Given the description of an element on the screen output the (x, y) to click on. 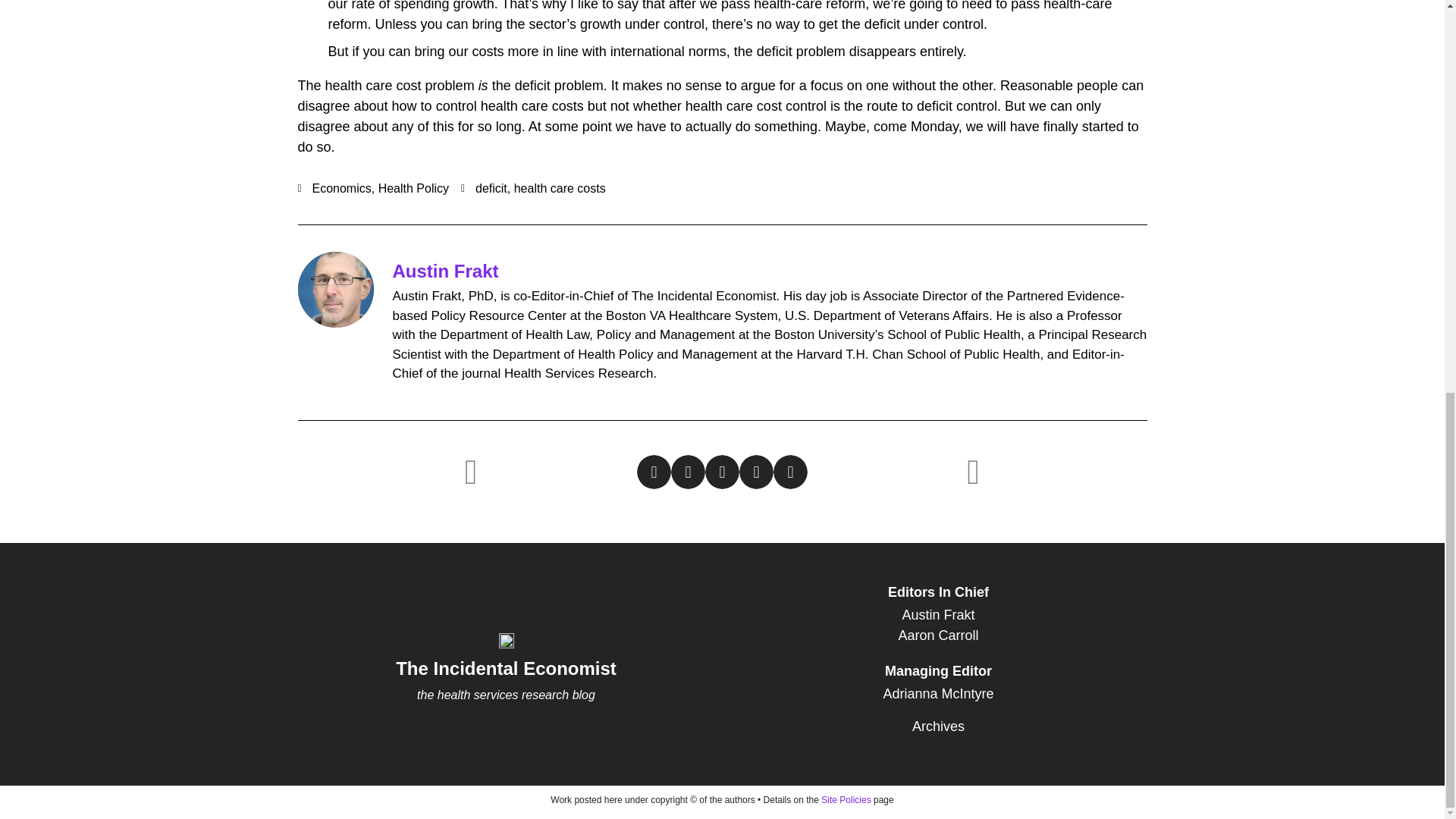
health care costs (559, 187)
Economics (342, 187)
Austin Frakt (938, 615)
Site Policies (845, 799)
Archives (938, 726)
Adrianna McIntyre (938, 693)
Health Policy (413, 187)
Aaron Carroll (938, 635)
Austin Frakt (446, 271)
deficit (491, 187)
